Given the description of an element on the screen output the (x, y) to click on. 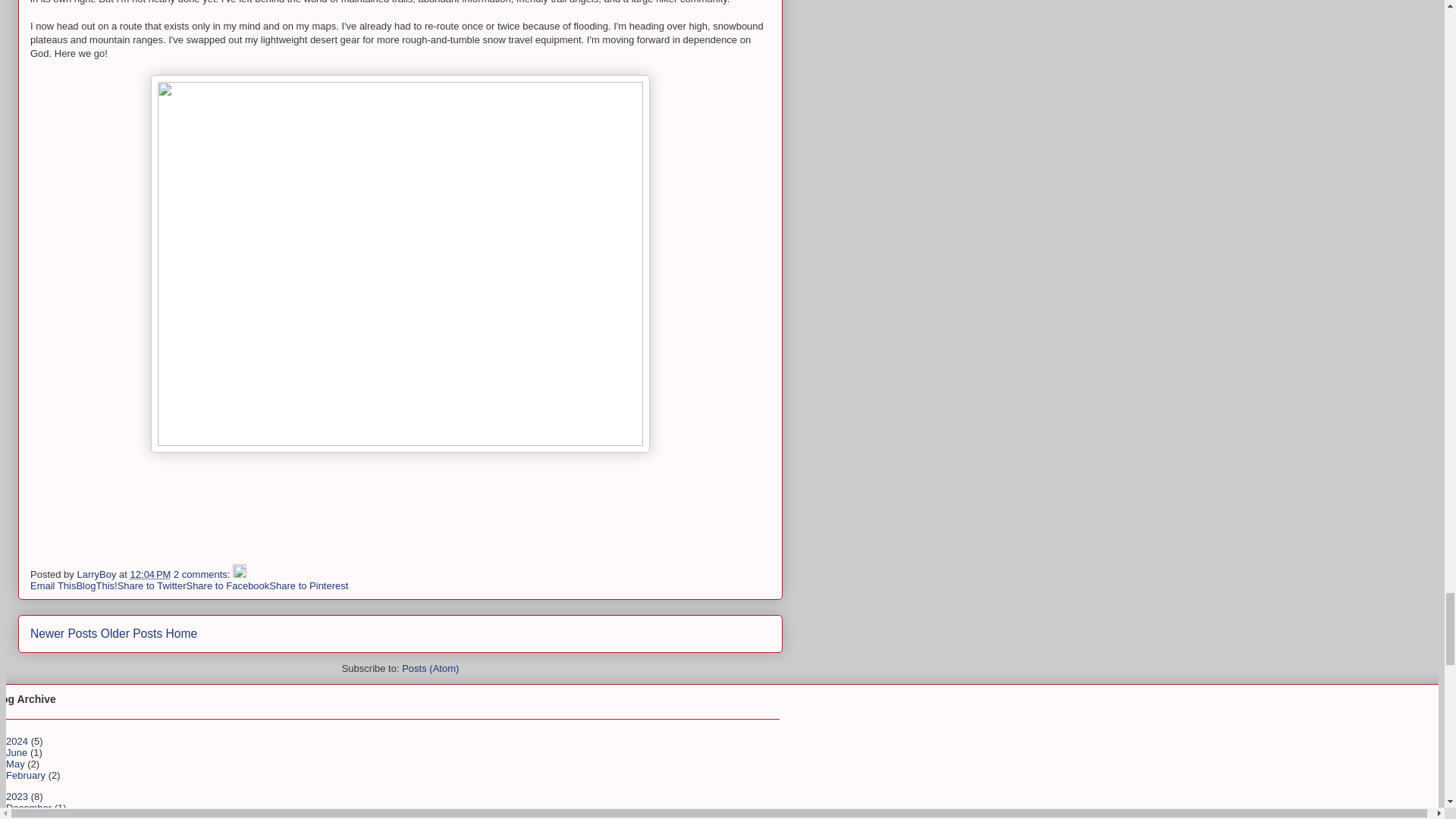
BlogThis! (95, 585)
Email This (52, 585)
author profile (98, 573)
LarryBoy (98, 573)
Share to Facebook (227, 585)
permanent link (151, 573)
Edit Post (239, 573)
Share to Twitter (151, 585)
